Given the description of an element on the screen output the (x, y) to click on. 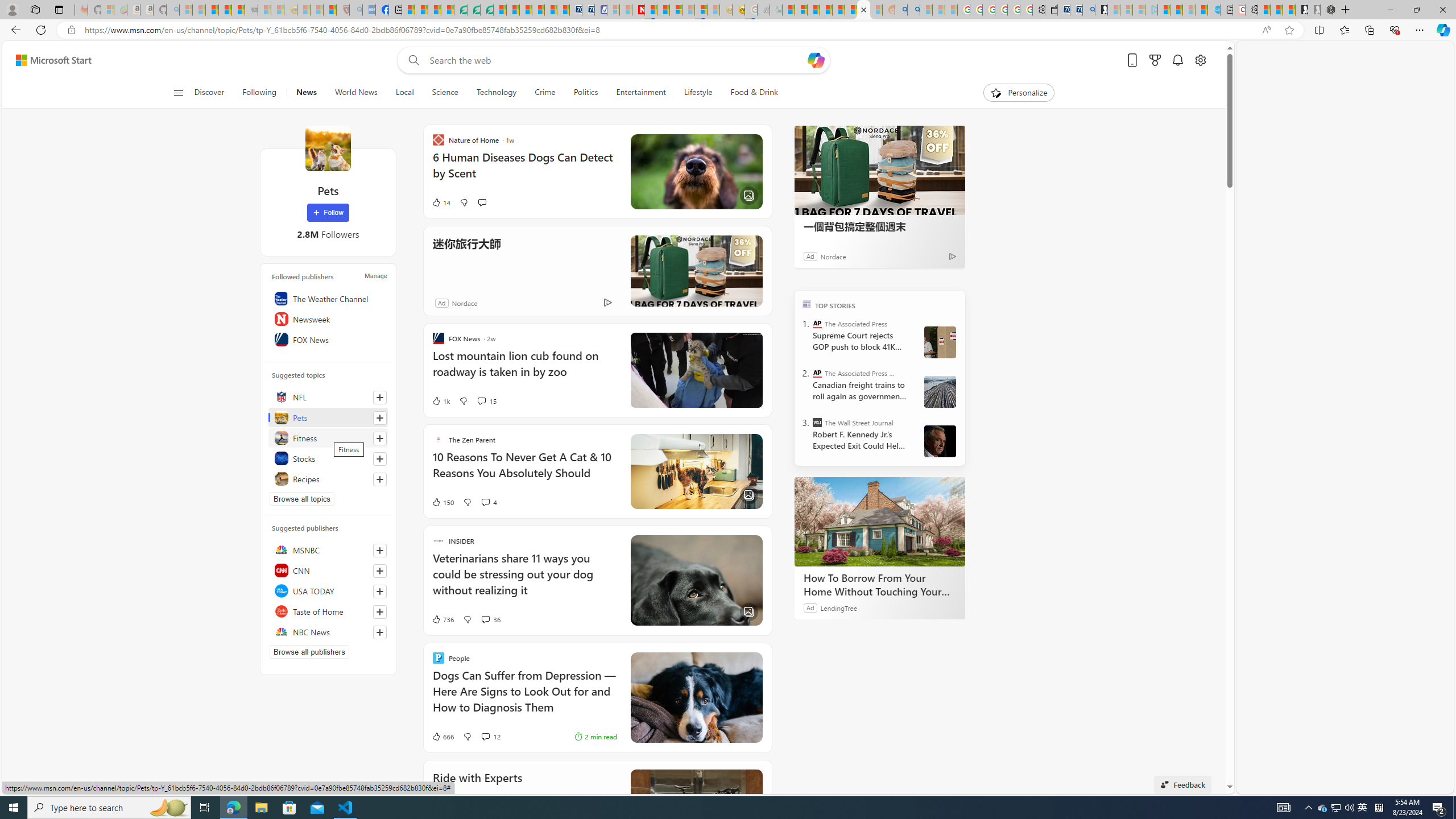
Refresh (40, 29)
Minimize (1390, 9)
LendingTree (838, 607)
Entertainment (641, 92)
The Weather Channel - MSN (212, 9)
Follow (328, 212)
NFL (327, 397)
Pets (327, 417)
Address and search bar (669, 29)
Nordace (464, 302)
